Given the description of an element on the screen output the (x, y) to click on. 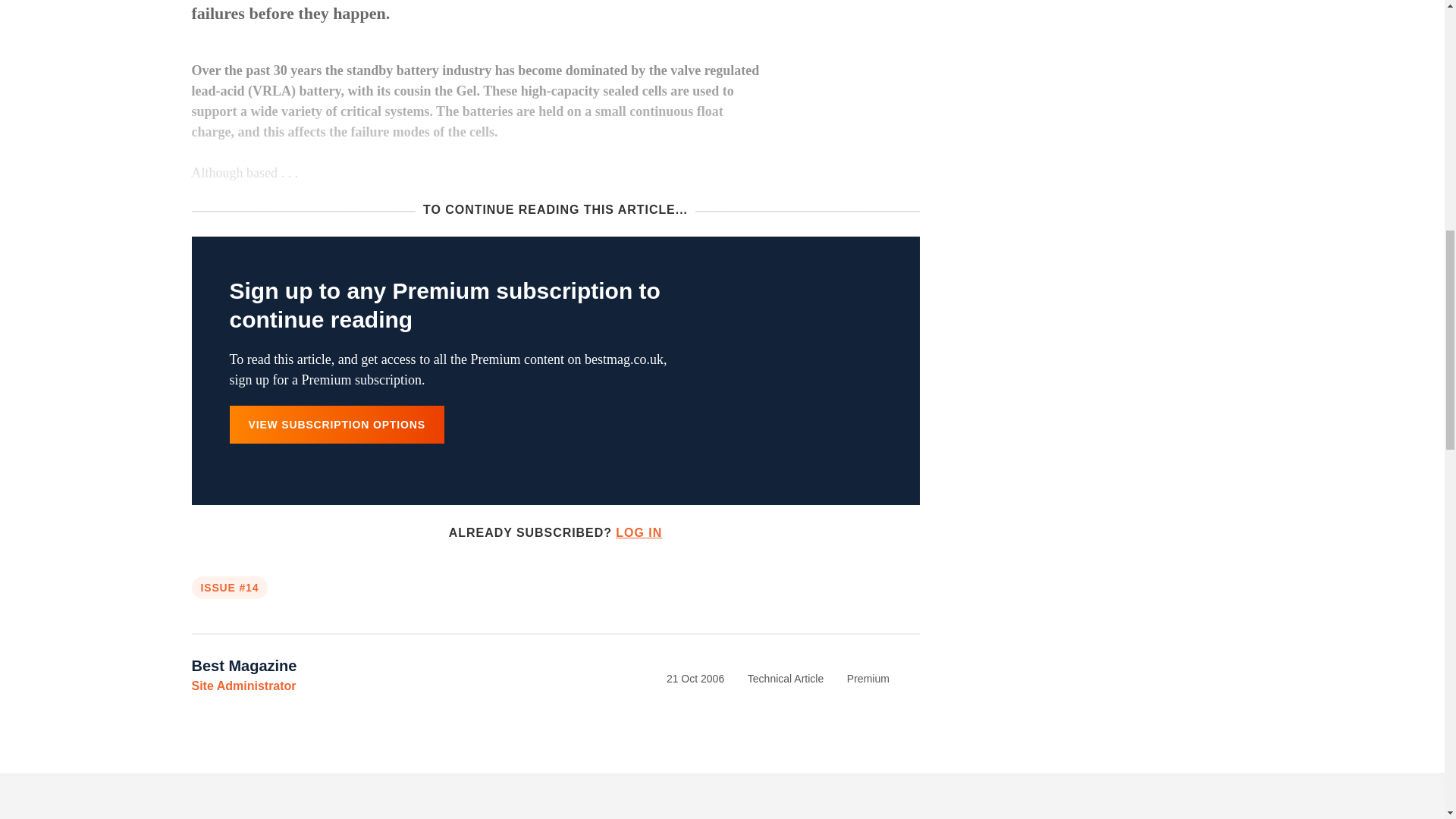
LOG IN (638, 532)
VIEW SUBSCRIPTION OPTIONS (336, 424)
